Given the description of an element on the screen output the (x, y) to click on. 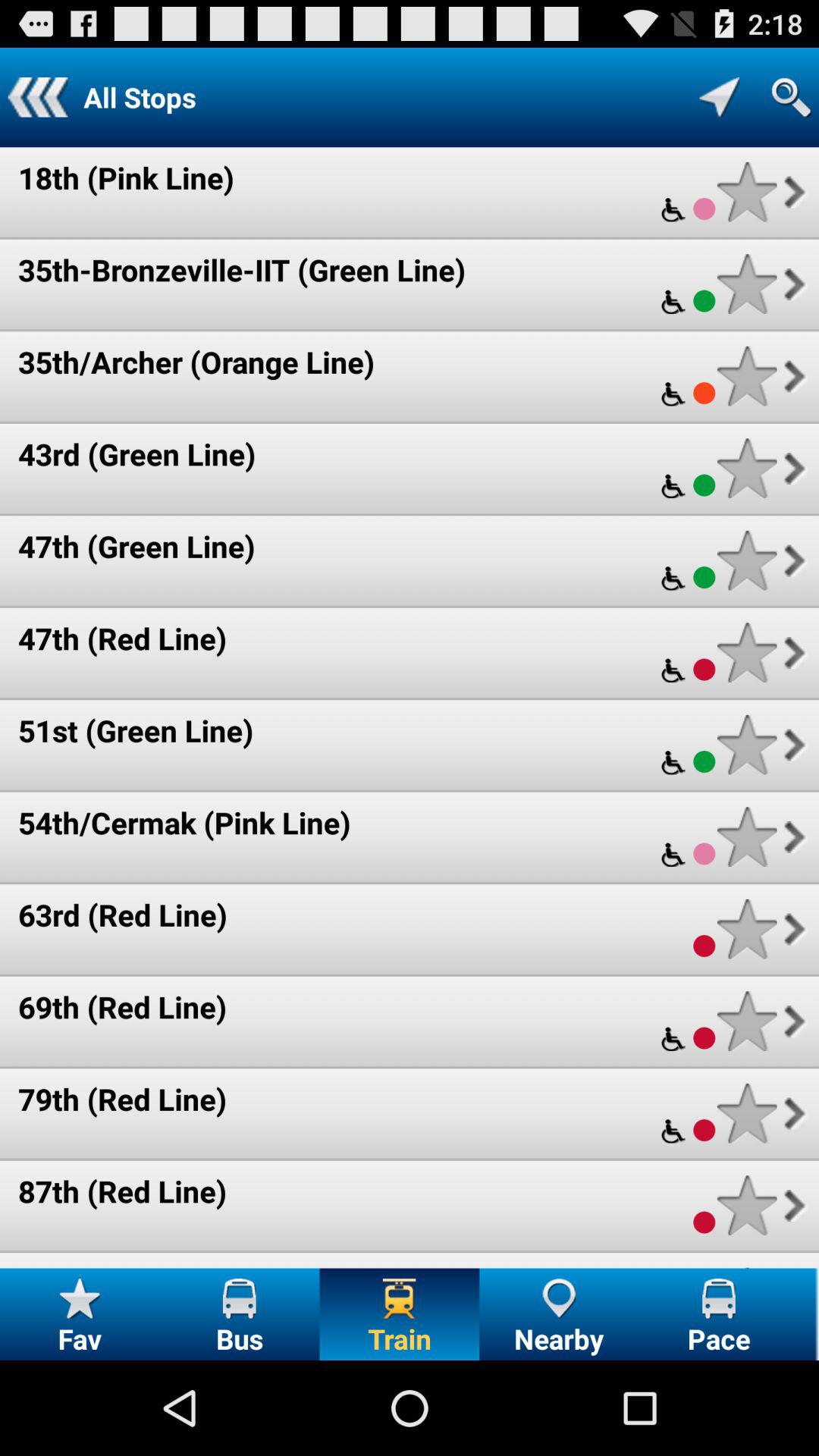
select favorite (746, 836)
